Given the description of an element on the screen output the (x, y) to click on. 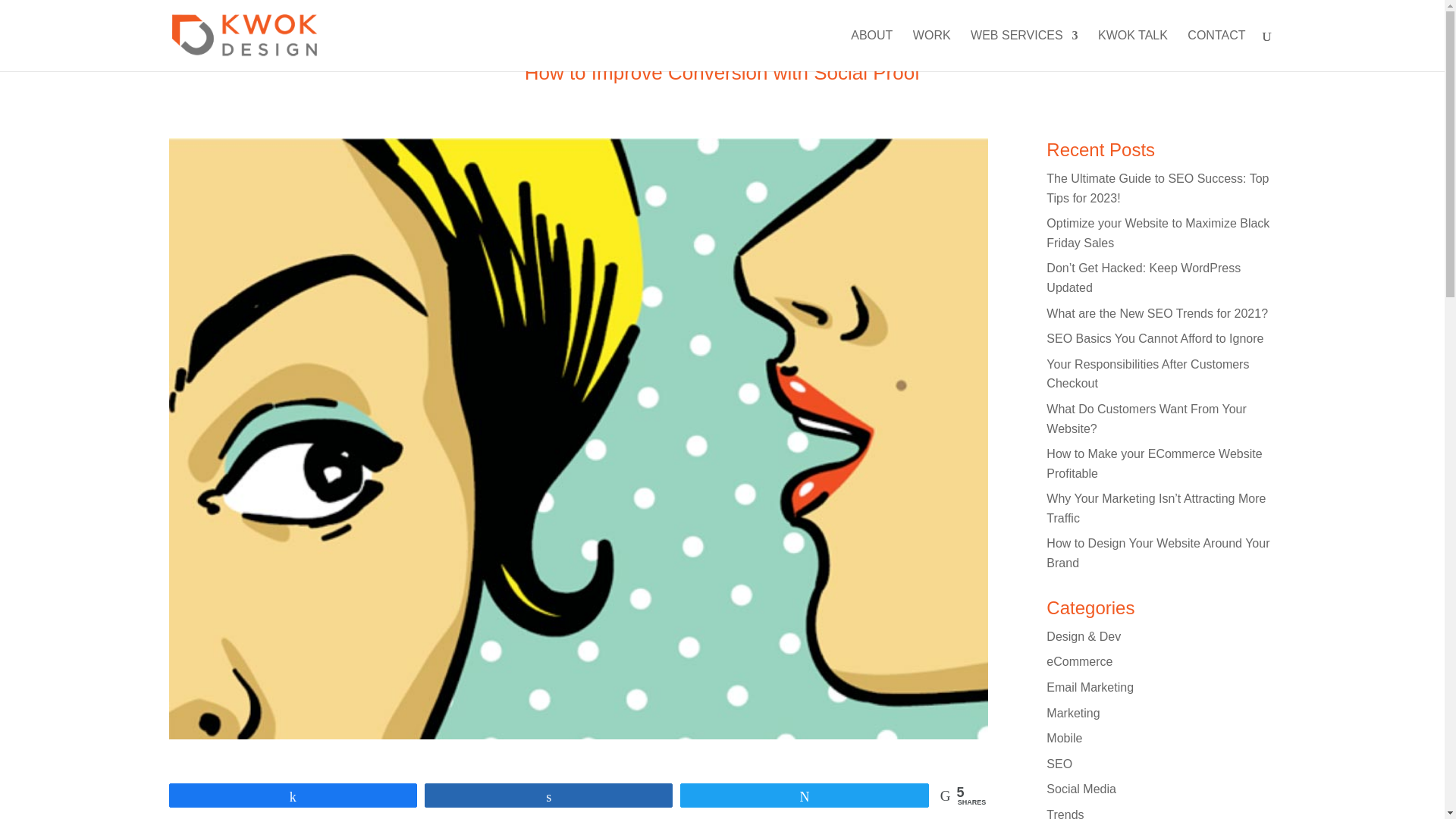
How to Make your ECommerce Website Profitable (1154, 463)
SEO Basics You Cannot Afford to Ignore (1154, 338)
The Ultimate Guide to SEO Success: Top Tips for 2023! (1157, 187)
Optimize your Website to Maximize Black Friday Sales (1157, 233)
Your Responsibilities After Customers Checkout (1147, 373)
Marketing (1072, 712)
Trends (1064, 813)
Social Media (1081, 788)
WEB SERVICES (1024, 50)
WORK (931, 50)
